Given the description of an element on the screen output the (x, y) to click on. 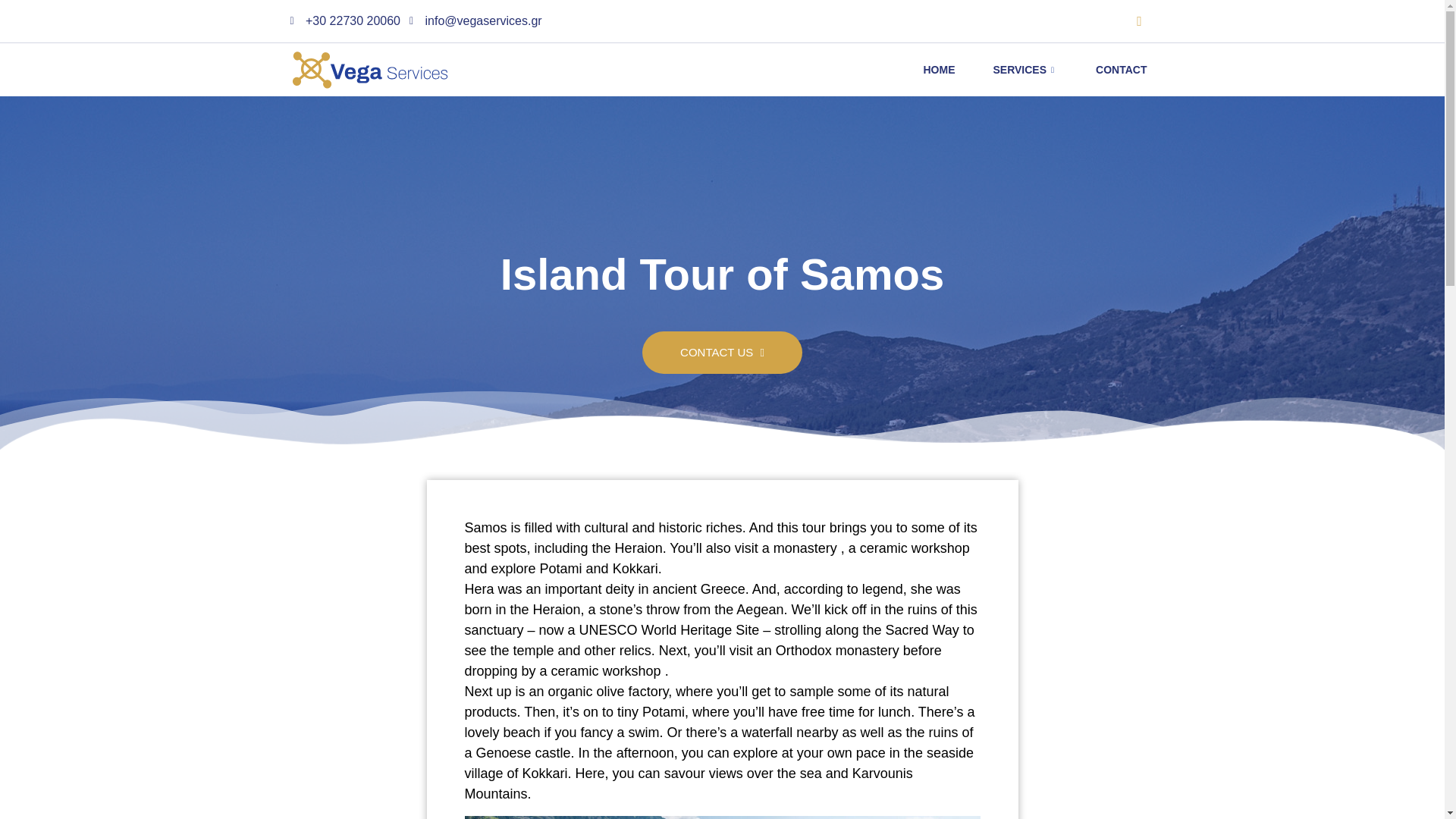
SERVICES (1025, 69)
CONTACT US (722, 359)
HOME (939, 69)
CONTACT (1121, 69)
